Given the description of an element on the screen output the (x, y) to click on. 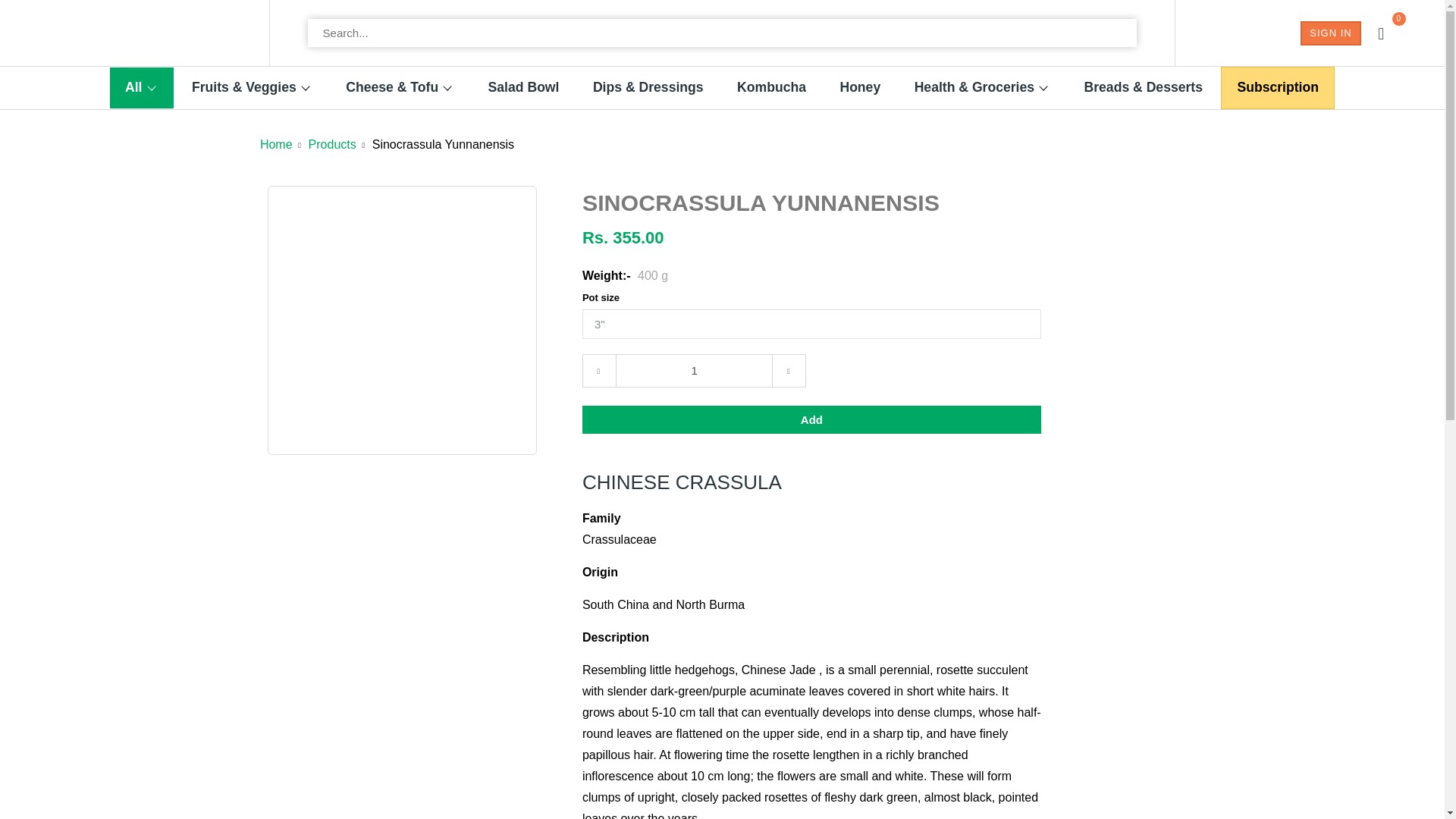
Gabbar Farms (276, 144)
1 (694, 370)
All (133, 88)
My Account (1329, 33)
Products (332, 144)
SIGN IN (1329, 33)
Gabbar Farms (111, 33)
Add (811, 419)
